Given the description of an element on the screen output the (x, y) to click on. 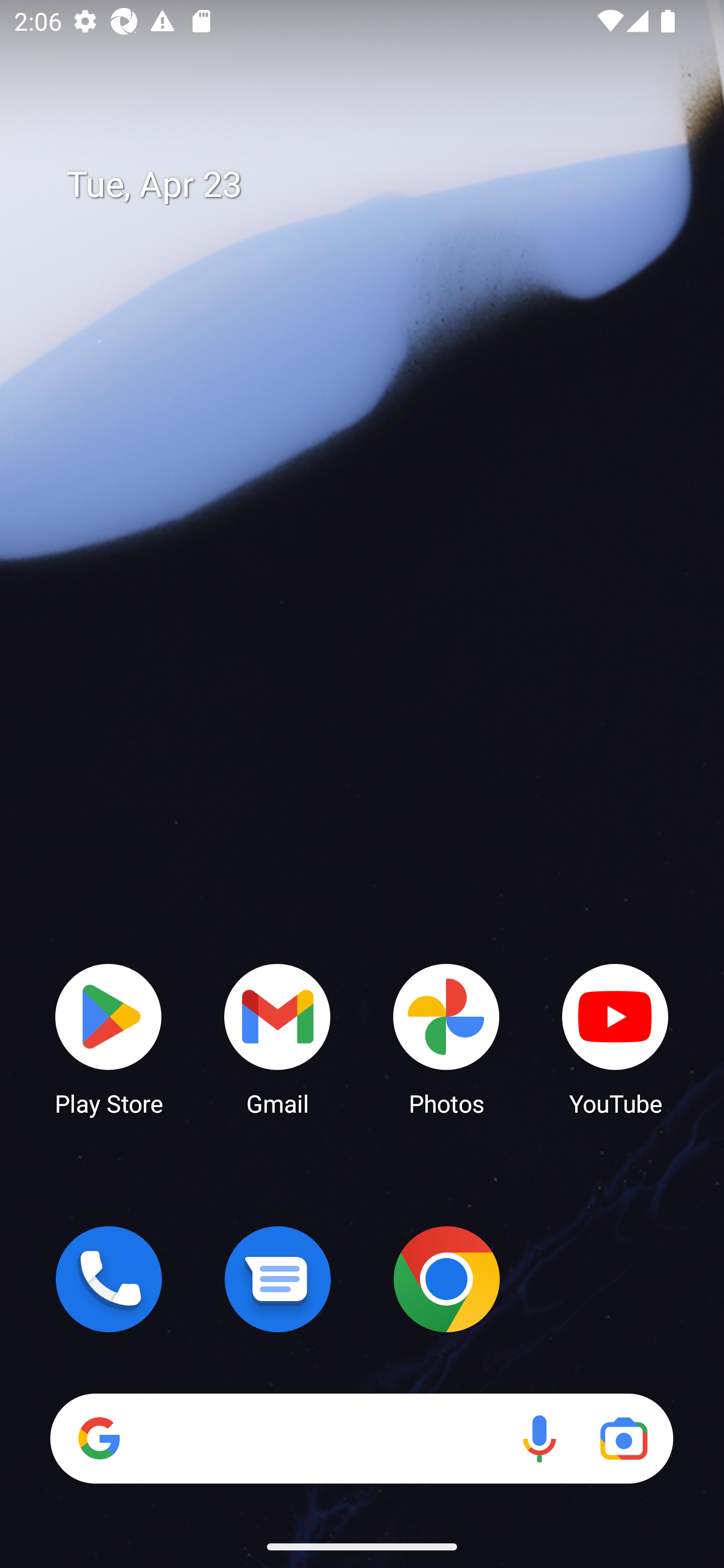
Tue, Apr 23 (375, 184)
Play Store (108, 1038)
Gmail (277, 1038)
Photos (445, 1038)
YouTube (615, 1038)
Phone (108, 1279)
Messages (277, 1279)
Chrome (446, 1279)
Search Voice search Google Lens (361, 1438)
Voice search (539, 1438)
Google Lens (623, 1438)
